Given the description of an element on the screen output the (x, y) to click on. 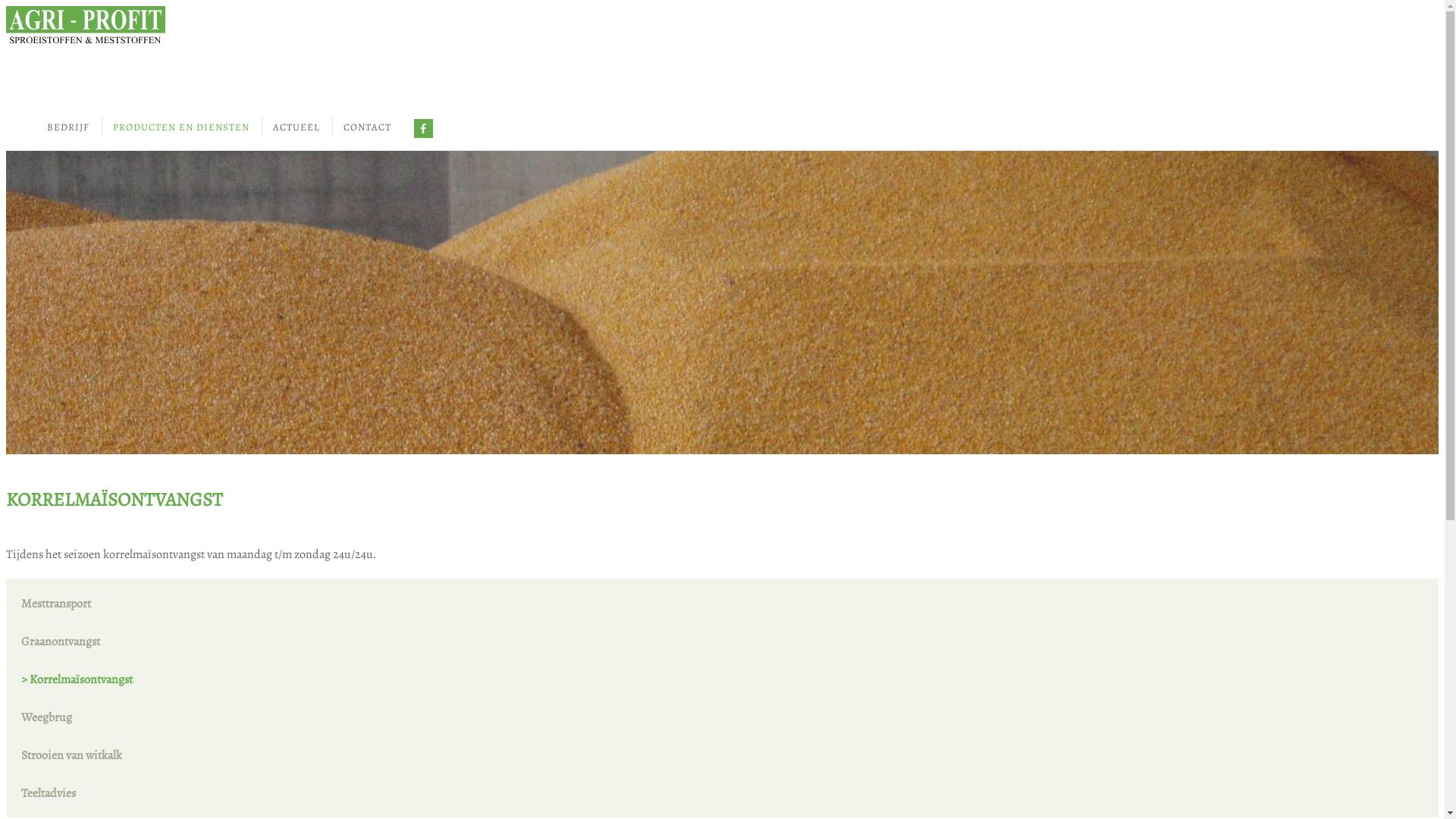
Graanontvangst Element type: text (722, 650)
Agriprofit Element type: hover (85, 26)
Agriprofit Element type: hover (722, 26)
Teeltadvies Element type: text (722, 792)
BEDRIJF Element type: text (68, 126)
Strooien van witkalk Element type: text (722, 764)
Weegbrug Element type: text (722, 726)
ACTUEEL Element type: text (296, 126)
Mesttransport Element type: text (722, 612)
CONTACT Element type: text (367, 126)
PRODUCTEN EN DIENSTEN Element type: text (180, 126)
